Given the description of an element on the screen output the (x, y) to click on. 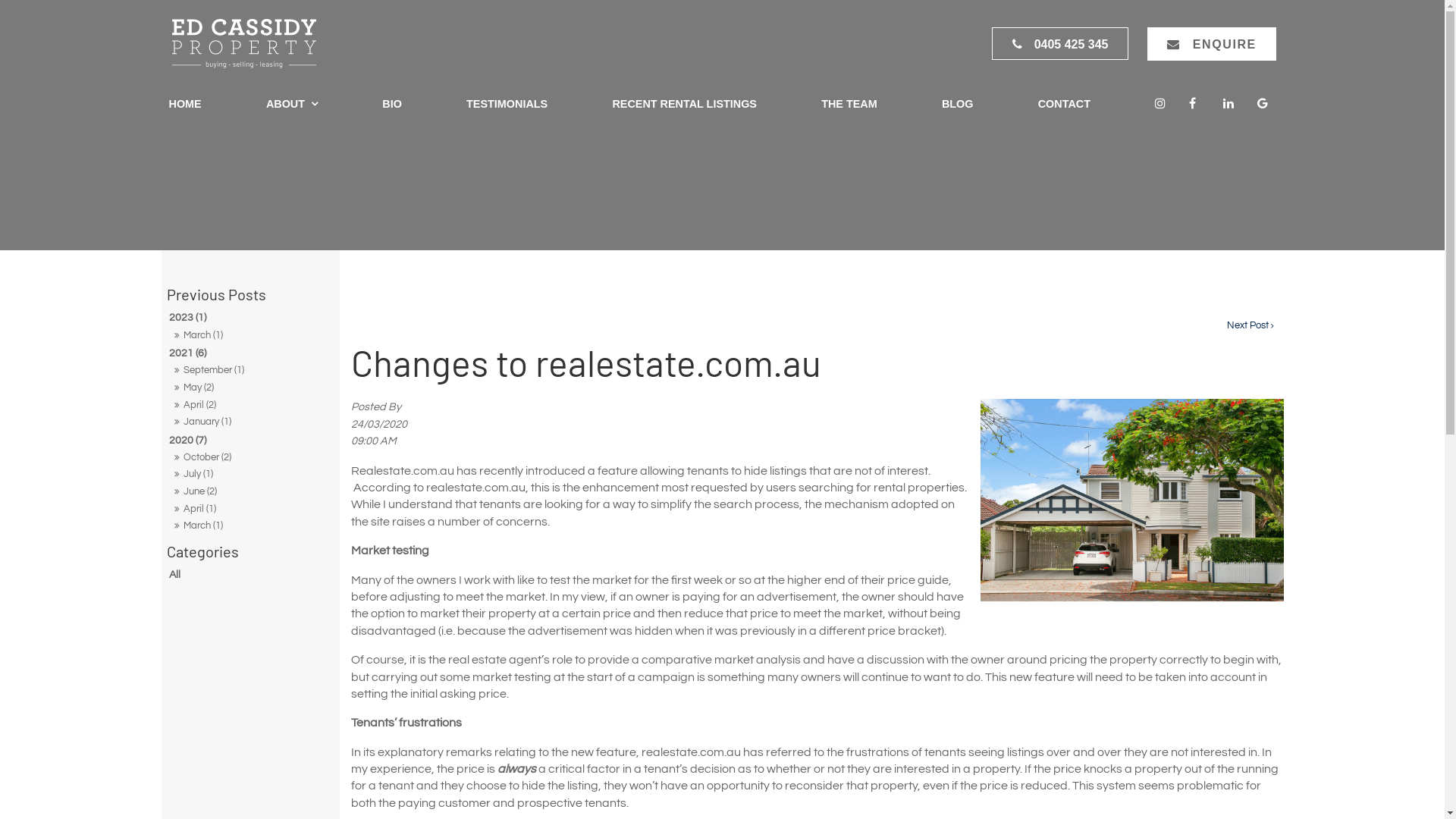
ABOUT Element type: text (291, 104)
June (2) Element type: text (250, 491)
BLOG Element type: text (957, 104)
2021 (6) Element type: text (250, 352)
2023 (1) Element type: text (250, 317)
Next Post Element type: text (1250, 325)
October (2) Element type: text (250, 457)
THE TEAM Element type: text (848, 104)
ENQUIRE Element type: text (1212, 44)
HOME Element type: text (184, 104)
All Element type: text (250, 574)
April (2) Element type: text (250, 405)
TESTIMONIALS Element type: text (506, 104)
September (1) Element type: text (250, 370)
2020 (7) Element type: text (250, 439)
May (2) Element type: text (250, 387)
April (1) Element type: text (250, 509)
March (1) Element type: text (250, 525)
January (1) Element type: text (250, 422)
RECENT RENTAL LISTINGS Element type: text (684, 104)
July (1) Element type: text (250, 474)
CONTACT Element type: text (1064, 104)
BIO Element type: text (391, 104)
March (1) Element type: text (250, 335)
